Given the description of an element on the screen output the (x, y) to click on. 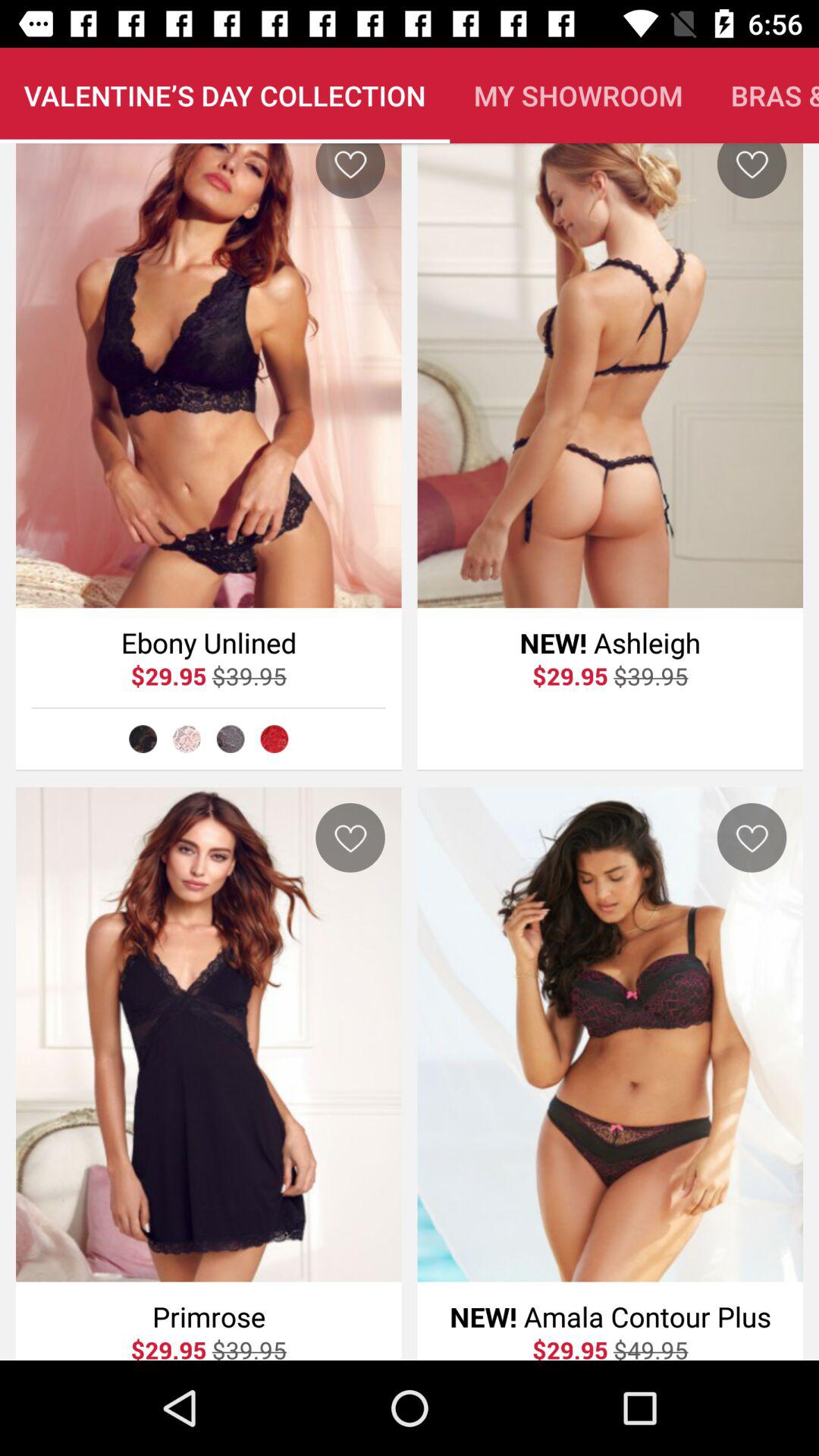
change color options (230, 738)
